Given the description of an element on the screen output the (x, y) to click on. 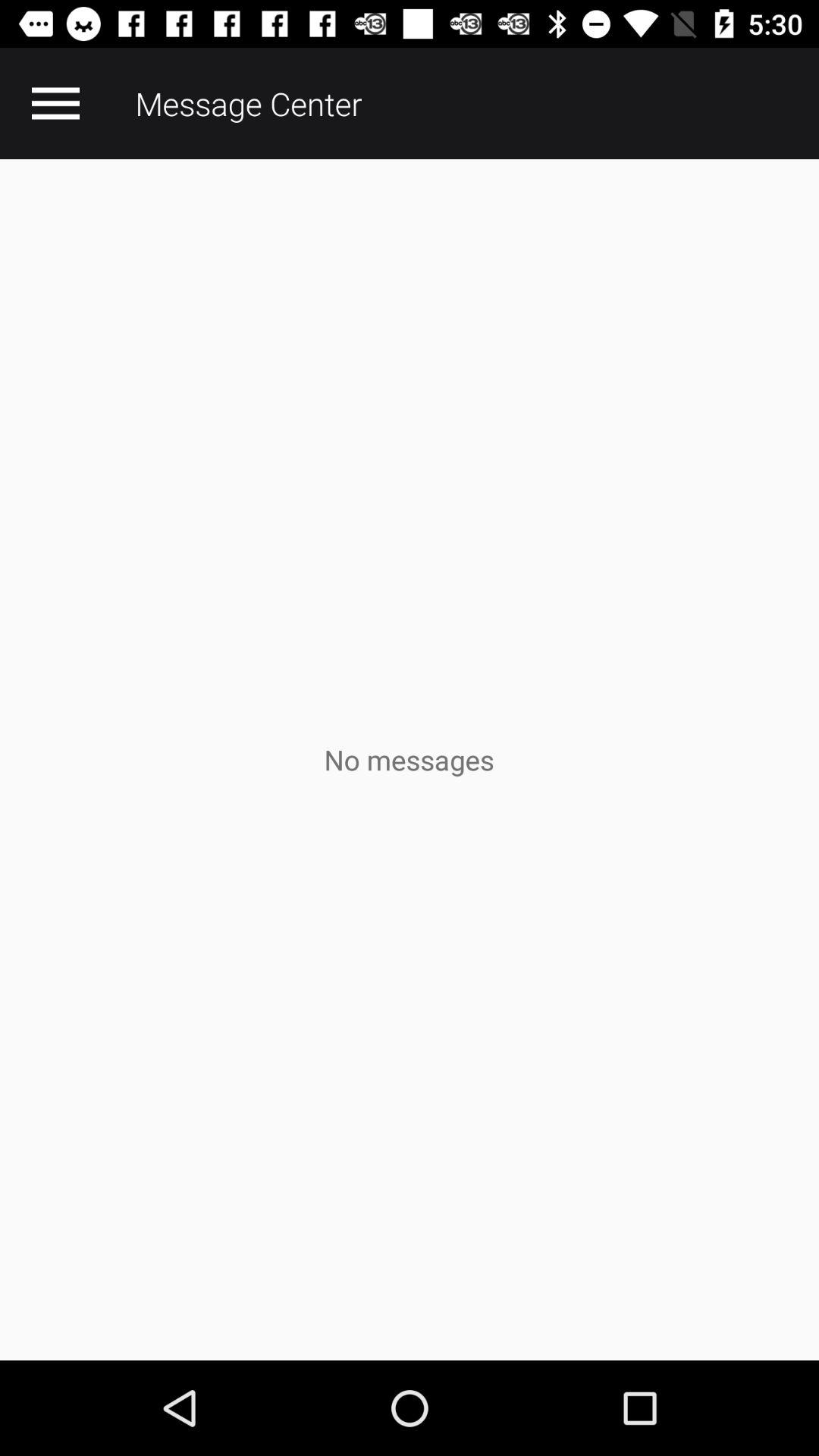
turn off the app next to message center (55, 103)
